Given the description of an element on the screen output the (x, y) to click on. 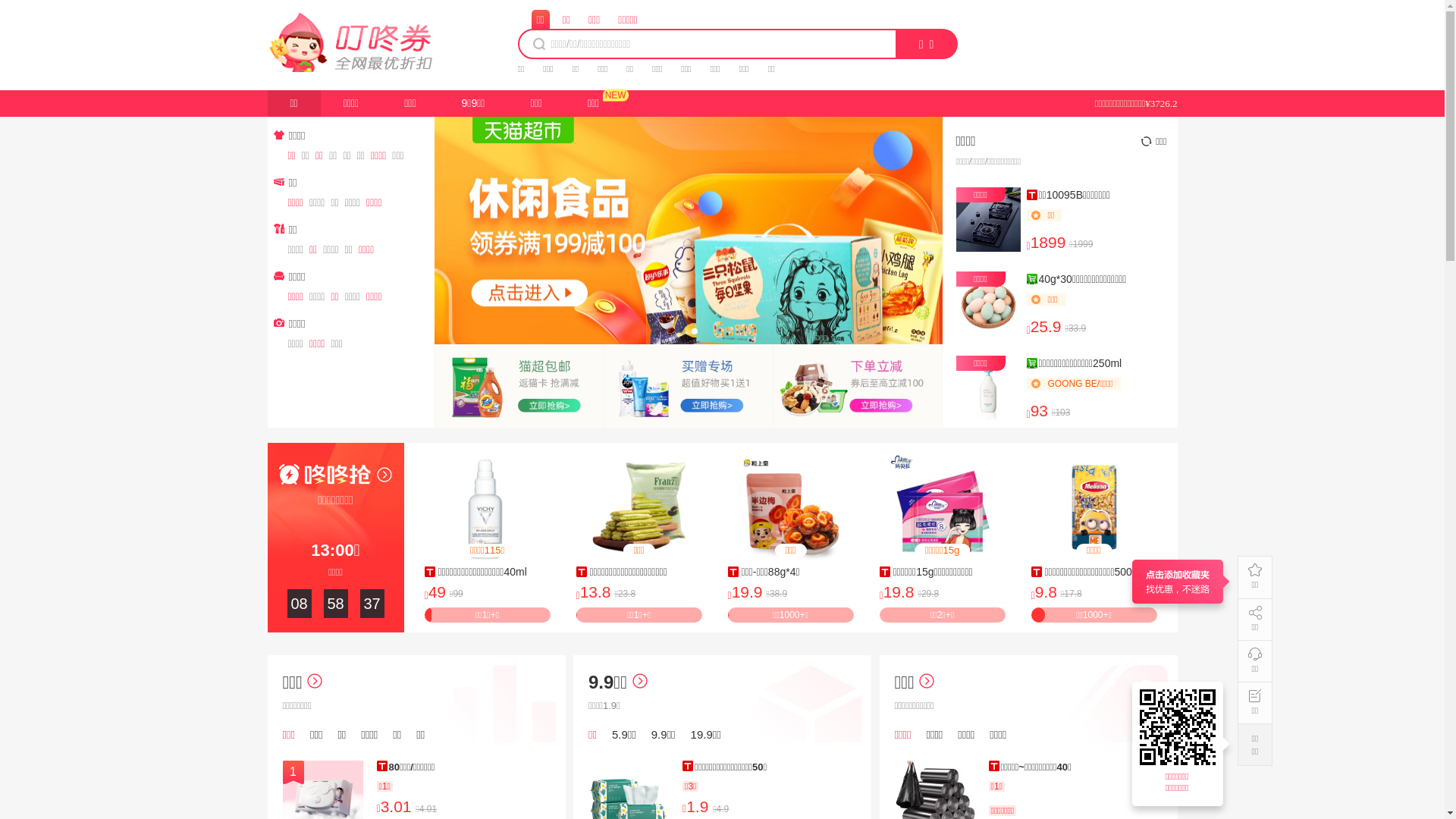
https://www.200386.com Element type: hover (1179, 727)
